Given the description of an element on the screen output the (x, y) to click on. 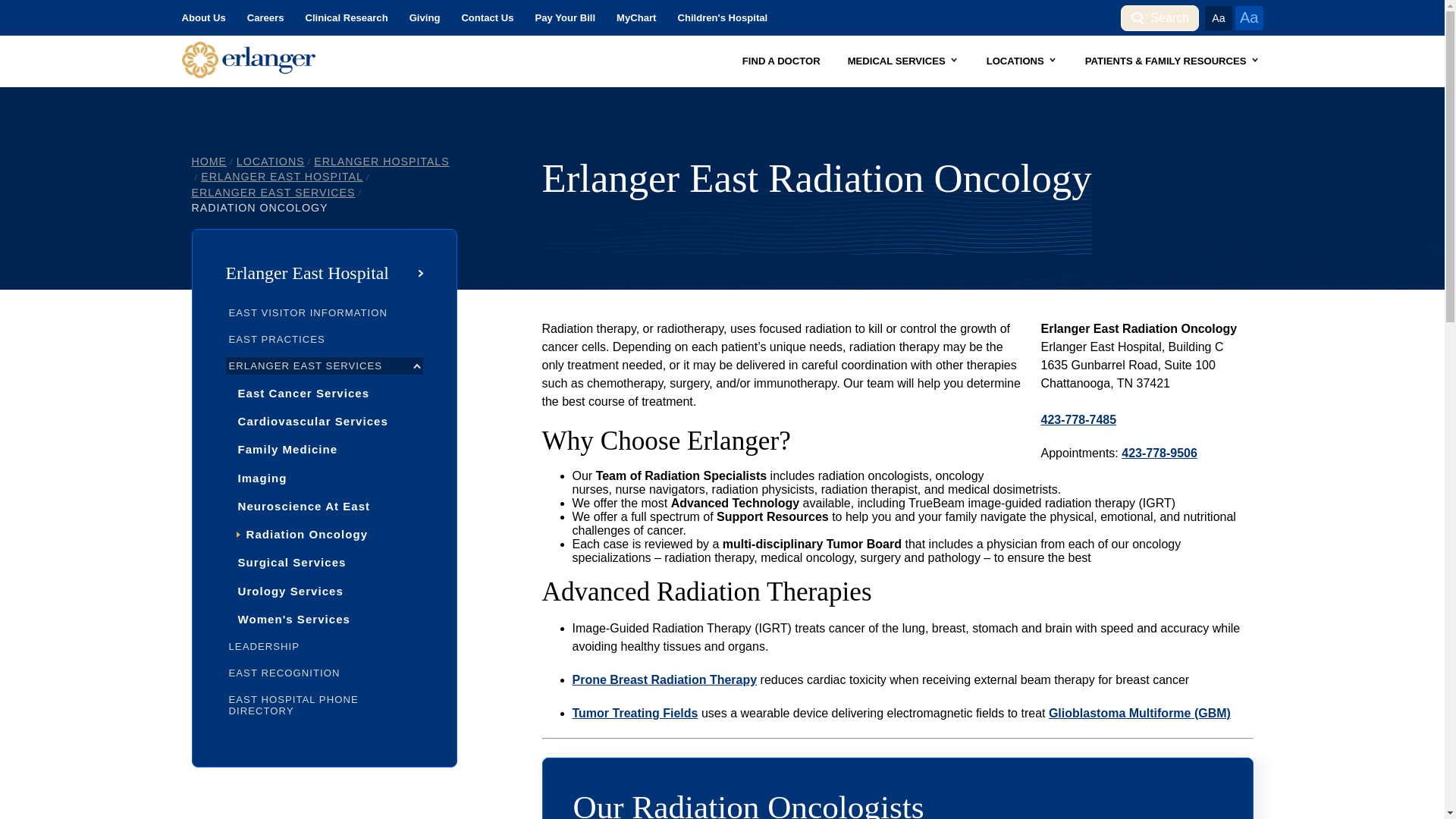
Aa (1248, 17)
About Us (203, 17)
Search (1159, 17)
FIND A DOCTOR (781, 61)
Clinical Research (345, 17)
Pay Your Bill (565, 17)
Aa (1218, 17)
Contact Us (487, 17)
MEDICAL SERVICES (903, 61)
Giving (425, 17)
Careers (265, 17)
Children's Hospital (722, 17)
MyChart (635, 17)
